Given the description of an element on the screen output the (x, y) to click on. 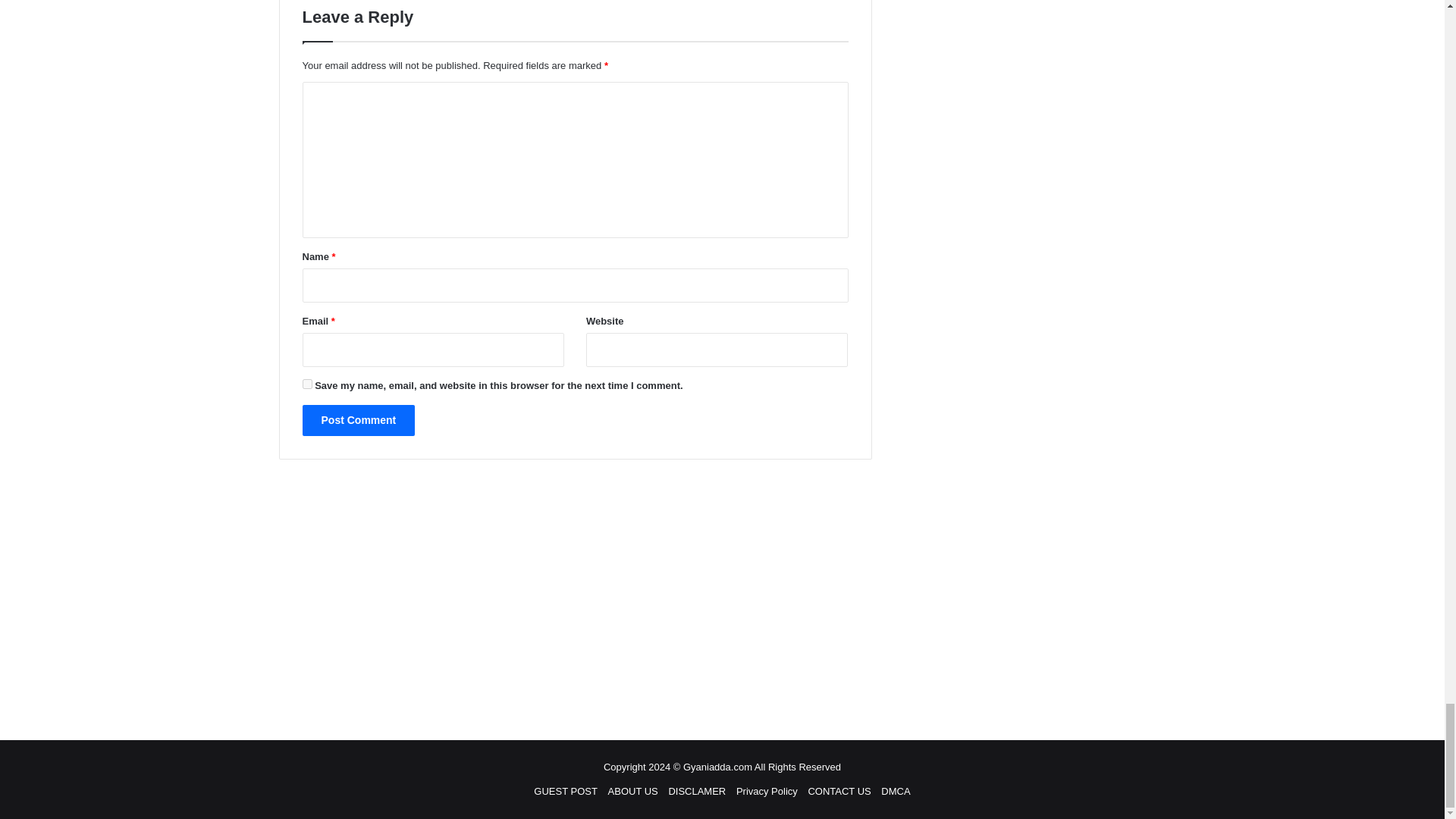
yes (306, 384)
Post Comment (357, 419)
